Given the description of an element on the screen output the (x, y) to click on. 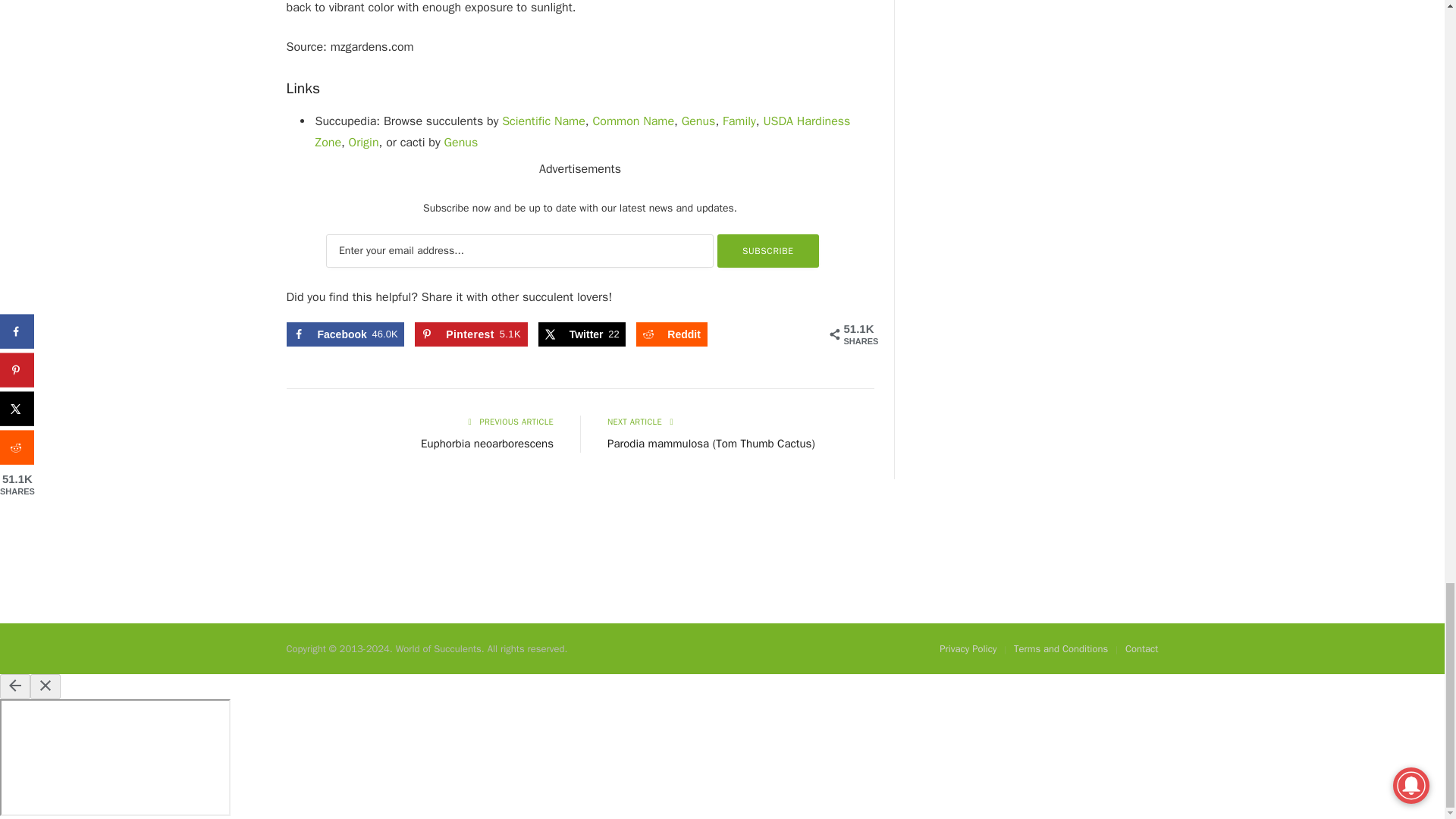
Save to Pinterest (470, 334)
Share on X (582, 334)
Share on Reddit (671, 334)
Subscribe (768, 250)
Share on Facebook (345, 334)
